Given the description of an element on the screen output the (x, y) to click on. 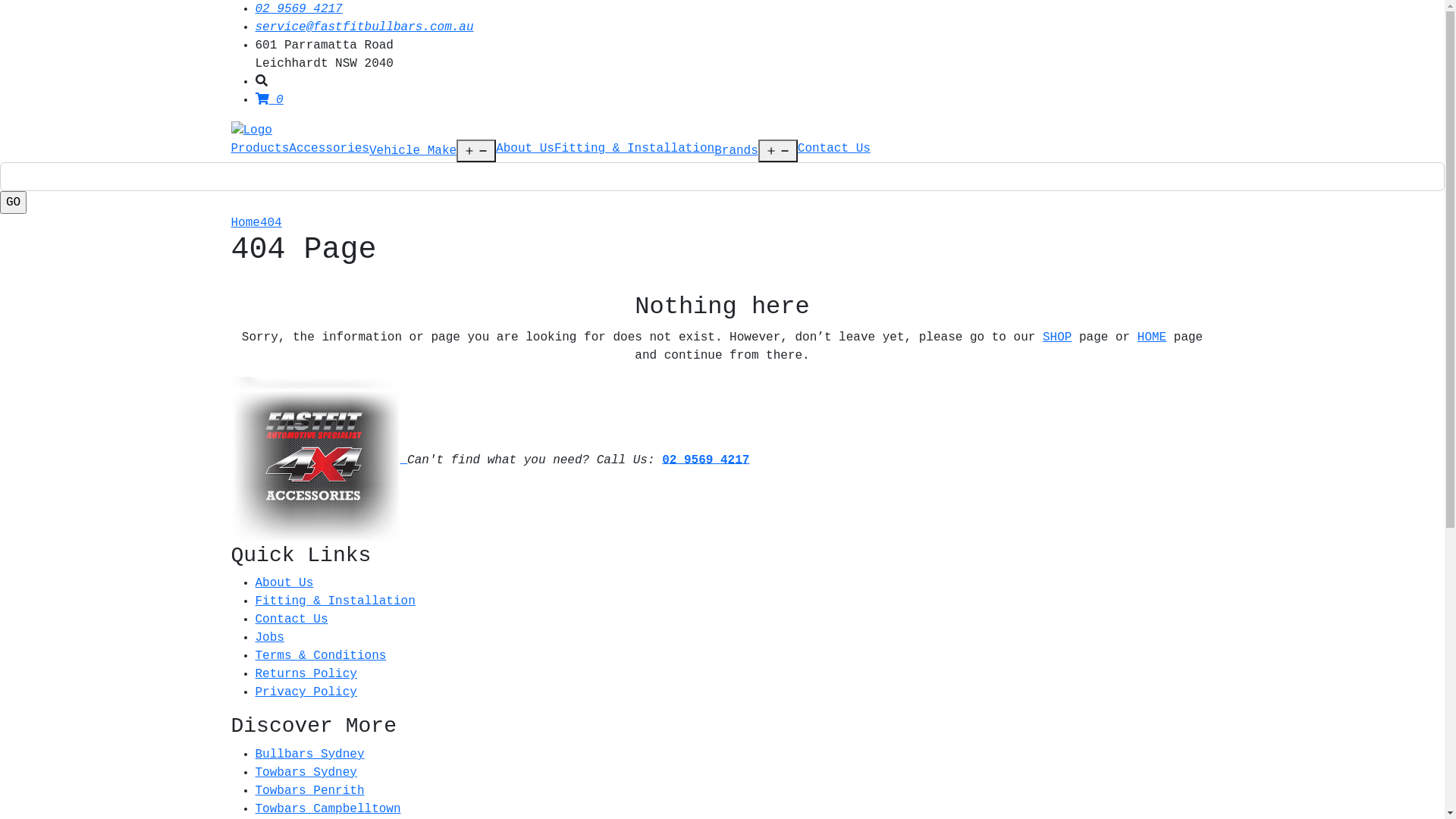
Accessories Element type: text (328, 148)
Open menu Element type: text (777, 150)
Brands Element type: text (736, 150)
SHOP Element type: text (1056, 337)
Bullbars Sydney Element type: text (309, 754)
Privacy Policy Element type: text (305, 692)
Contact Us Element type: text (833, 148)
Towbars Campbelltown Element type: text (327, 808)
About Us Element type: text (524, 148)
Fitting & Installation Element type: text (334, 601)
Towbars Penrith Element type: text (309, 790)
Contact Us Element type: text (290, 619)
HOME Element type: text (1151, 337)
GO Element type: text (13, 202)
About Us Element type: text (283, 582)
404 Element type: text (271, 222)
02 9569 4217 Element type: text (705, 459)
Vehicle Make Element type: text (412, 150)
Terms & Conditions Element type: text (319, 655)
Returns Policy Element type: text (305, 673)
Products Element type: text (259, 148)
service@fastfitbullbars.com.au Element type: text (363, 27)
Open menu Element type: text (475, 150)
02 9569 4217 Element type: text (298, 8)
Jobs Element type: text (268, 637)
Home Element type: text (244, 222)
Towbars Sydney Element type: text (305, 772)
Fitting & Installation Element type: text (634, 148)
0 Element type: text (268, 99)
